Given the description of an element on the screen output the (x, y) to click on. 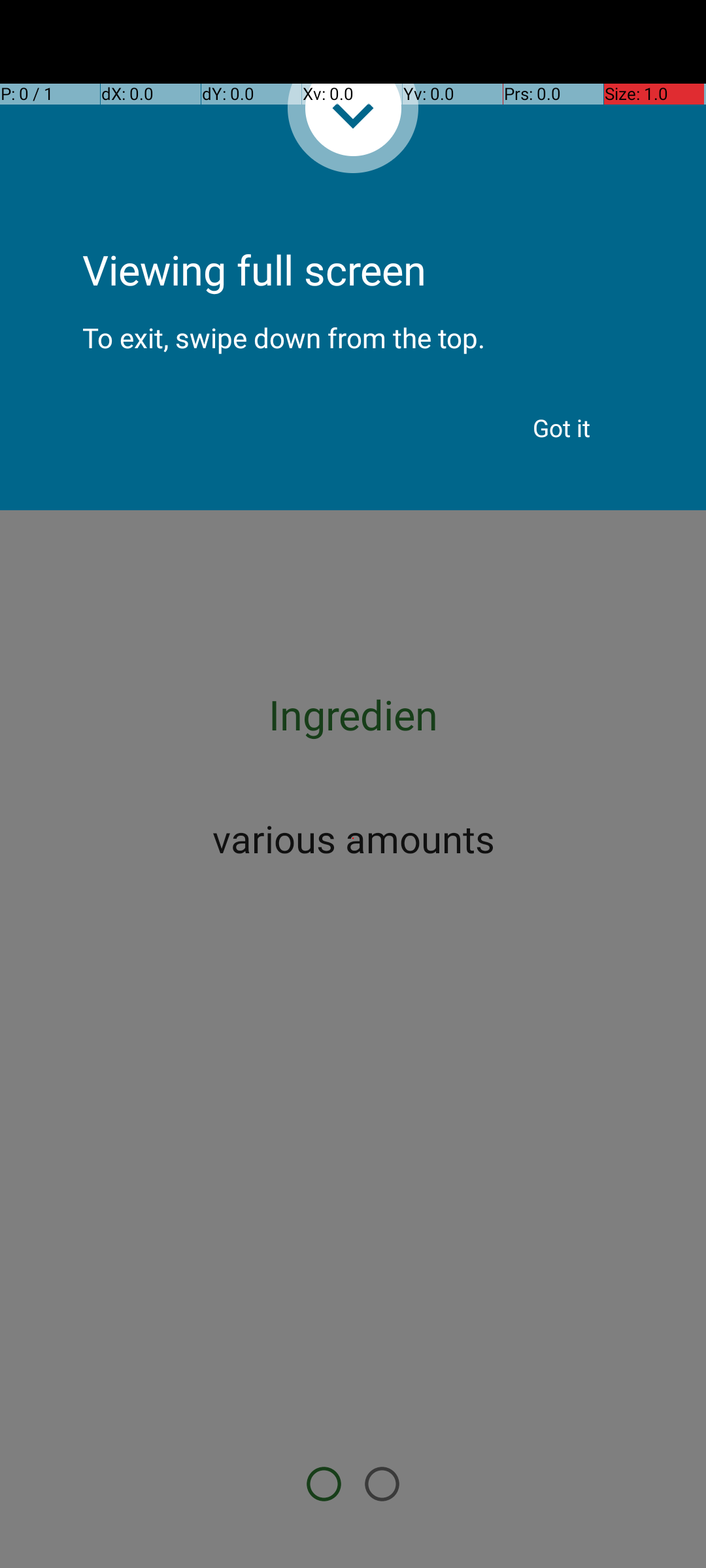
Viewing full screen Element type: android.widget.TextView (353, 235)
To exit, swipe down from the top. Element type: android.widget.TextView (353, 326)
Got it Element type: android.widget.Button (561, 427)
